Given the description of an element on the screen output the (x, y) to click on. 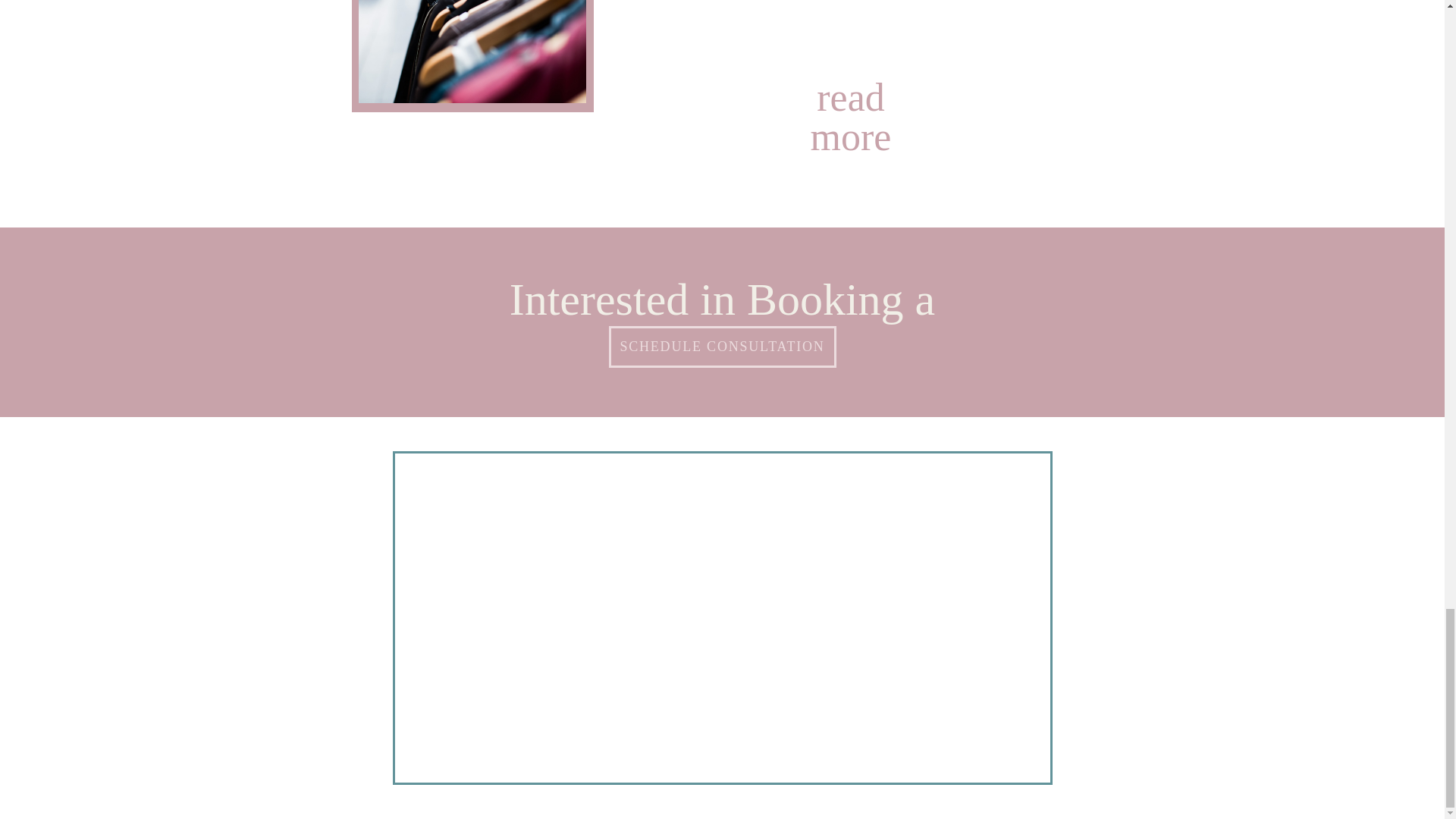
How to Decide What to Wear to Your Photo Session (471, 51)
How to Decide What to Wear to Your Photo Session (850, 92)
SCHEDULE CONSULTATION (721, 346)
read more (850, 92)
